Given the description of an element on the screen output the (x, y) to click on. 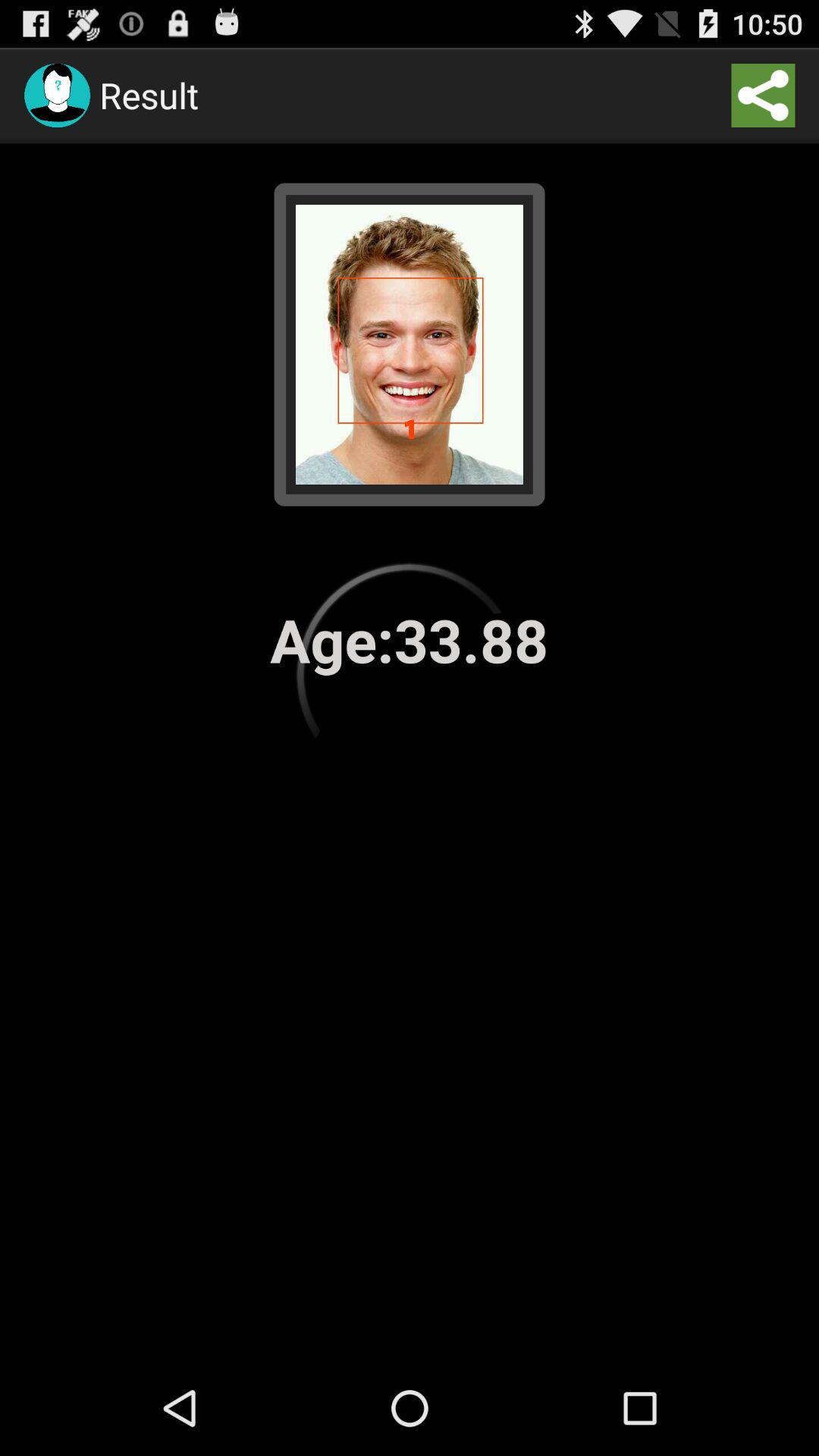
press icon next to the result (763, 95)
